Given the description of an element on the screen output the (x, y) to click on. 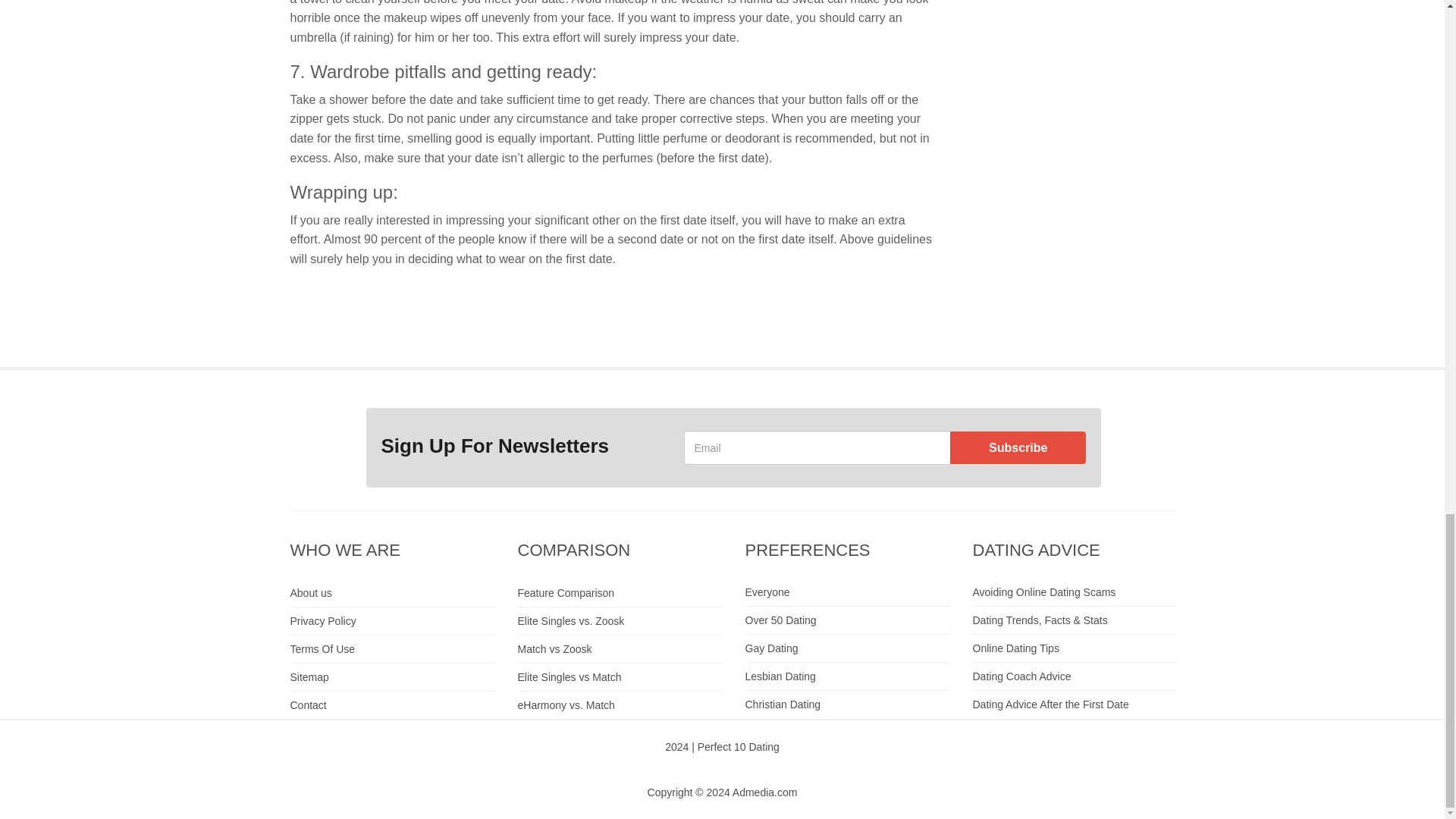
Privacy Policy (392, 621)
About us (392, 593)
Over 50 Dating (846, 620)
Contact (392, 705)
Terms Of Use (392, 649)
Match vs Zoosk (619, 649)
Sitemap (392, 677)
Elite Singles vs. Zoosk (619, 621)
eHarmony vs. Match (619, 705)
Subscribe (1018, 447)
Feature Comparison (619, 593)
Everyone (846, 592)
Elite Singles vs Match (619, 677)
